Given the description of an element on the screen output the (x, y) to click on. 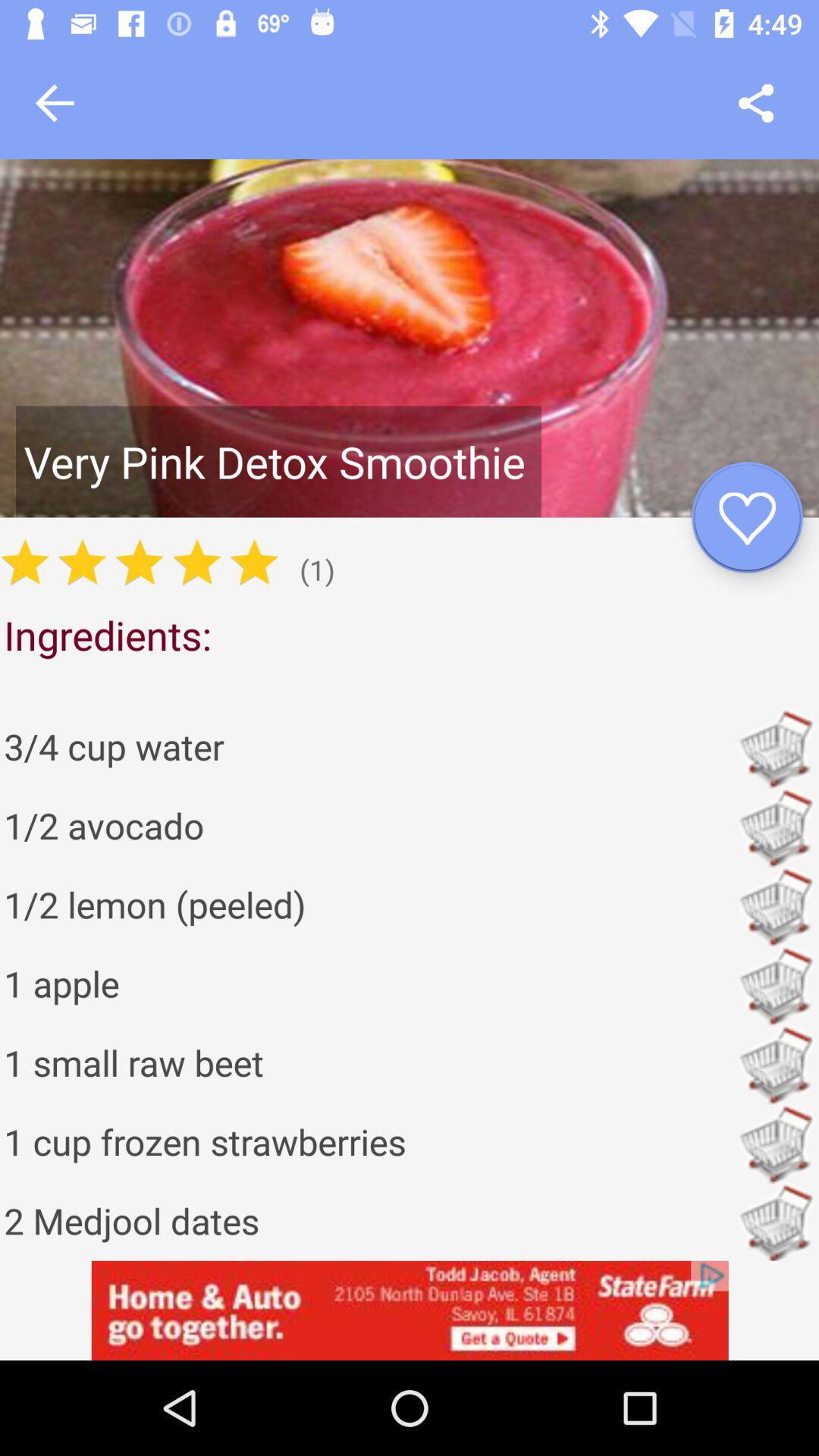
to add it in to the favorite list (747, 517)
